Given the description of an element on the screen output the (x, y) to click on. 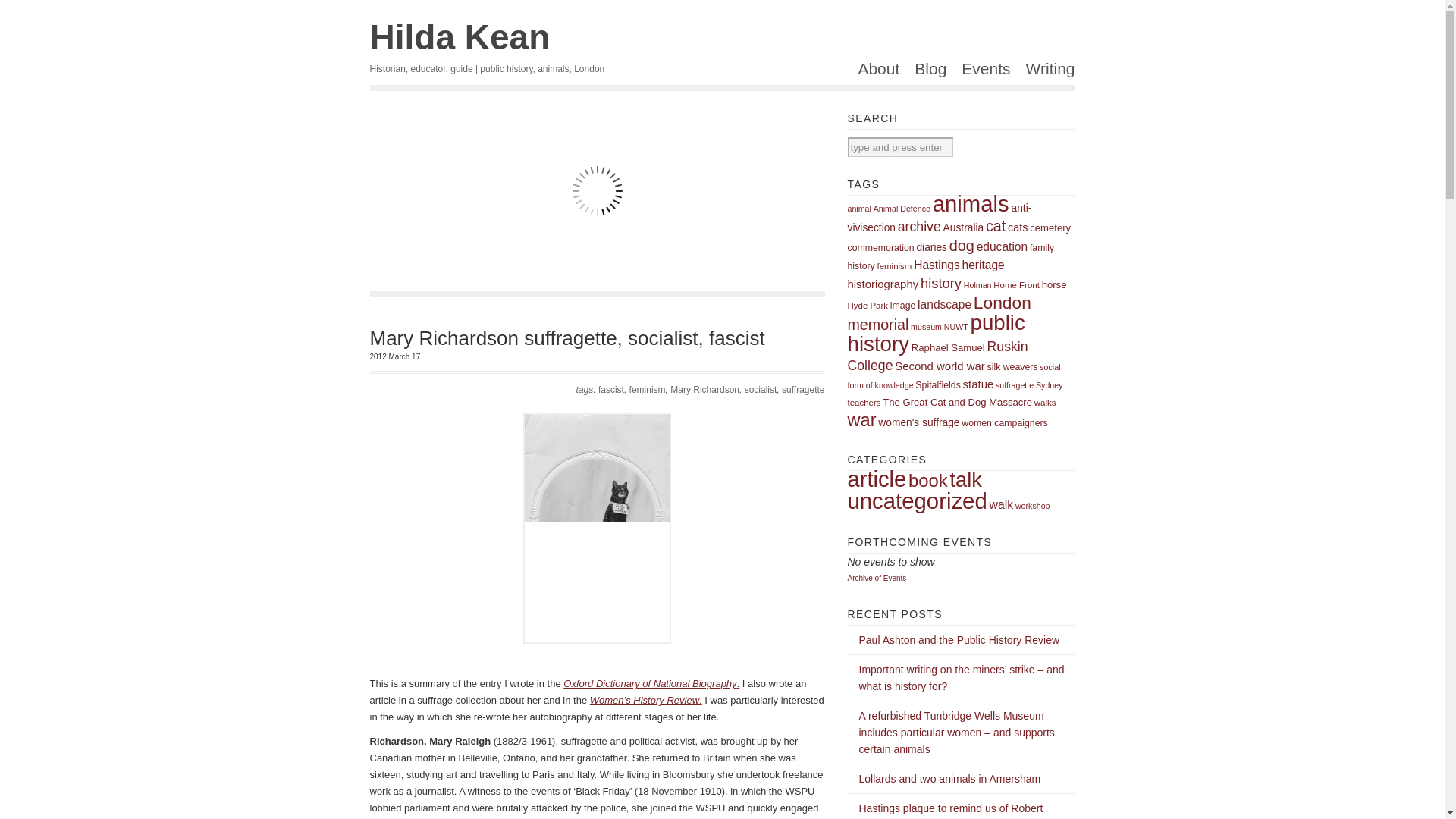
type and press enter (900, 147)
Oxford Dictionary of National Biography. (651, 683)
socialist (760, 389)
suffragette (802, 389)
Blog (926, 72)
Mary Richardson (704, 389)
Hilda Kean (459, 36)
Writing (1046, 72)
About (874, 72)
fascist (611, 389)
